Given the description of an element on the screen output the (x, y) to click on. 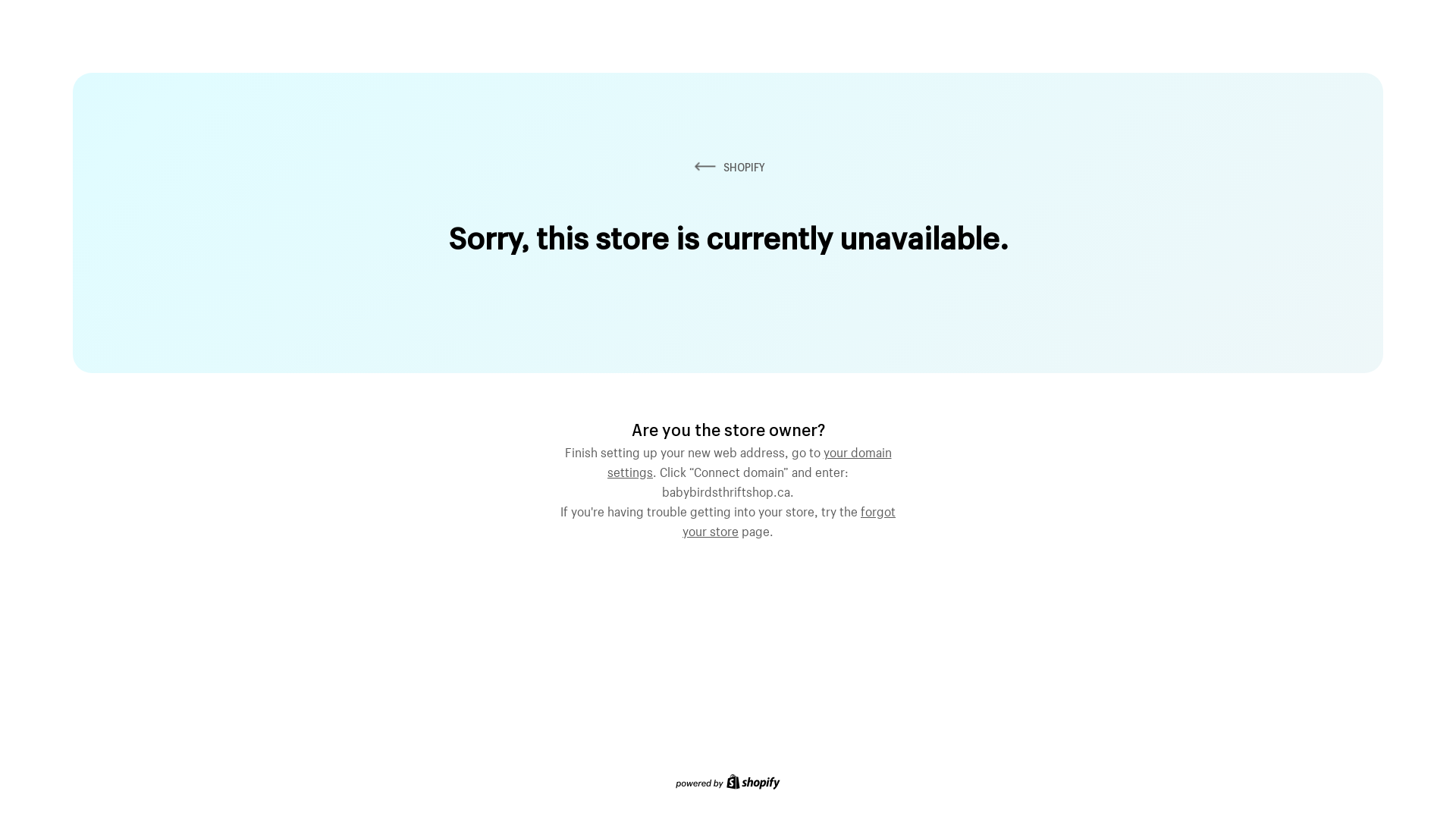
forgot your store Element type: text (788, 519)
your domain settings Element type: text (749, 460)
SHOPIFY Element type: text (727, 167)
